Given the description of an element on the screen output the (x, y) to click on. 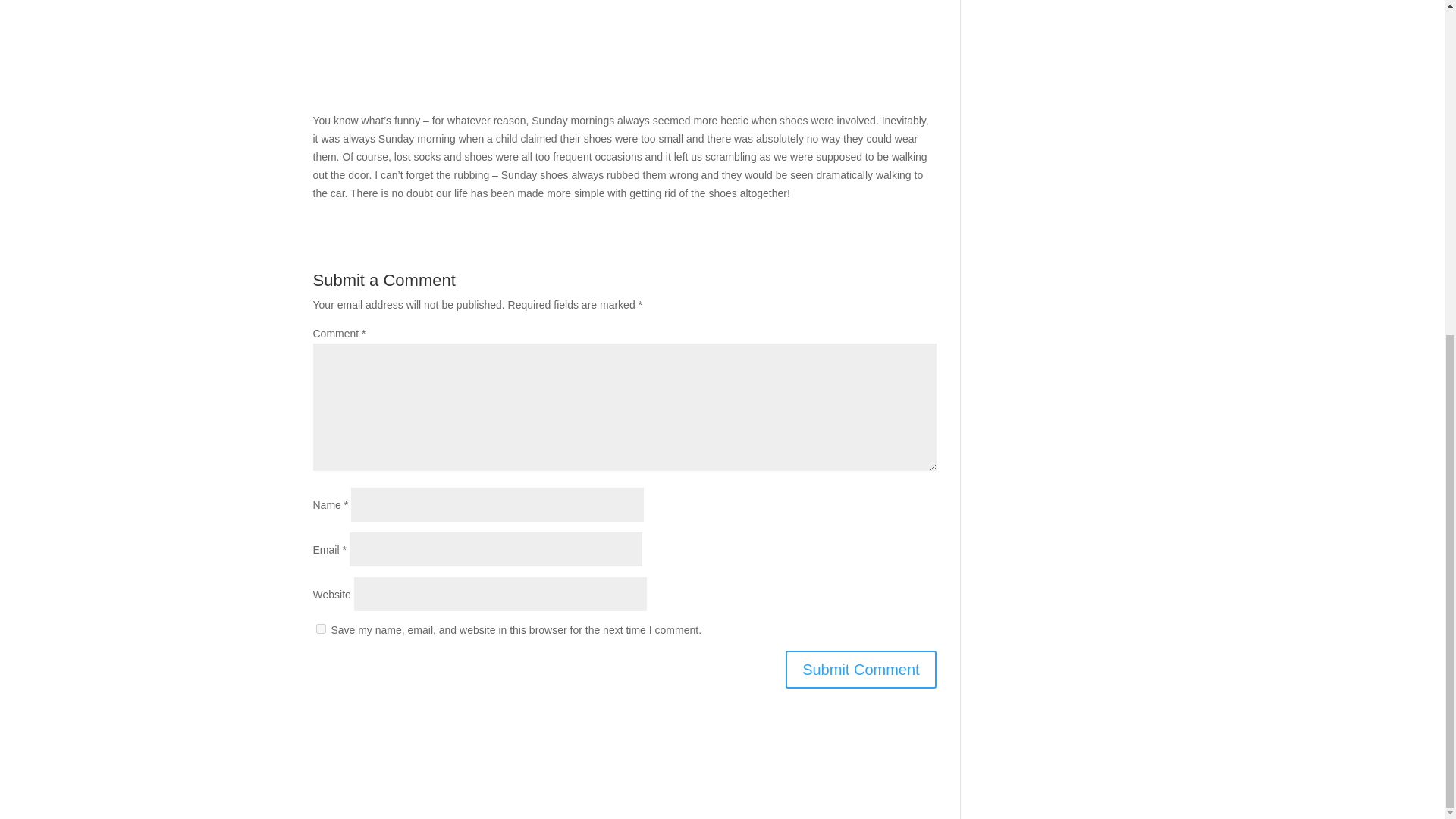
yes (319, 628)
Submit Comment (861, 669)
Submit Comment (861, 669)
